Given the description of an element on the screen output the (x, y) to click on. 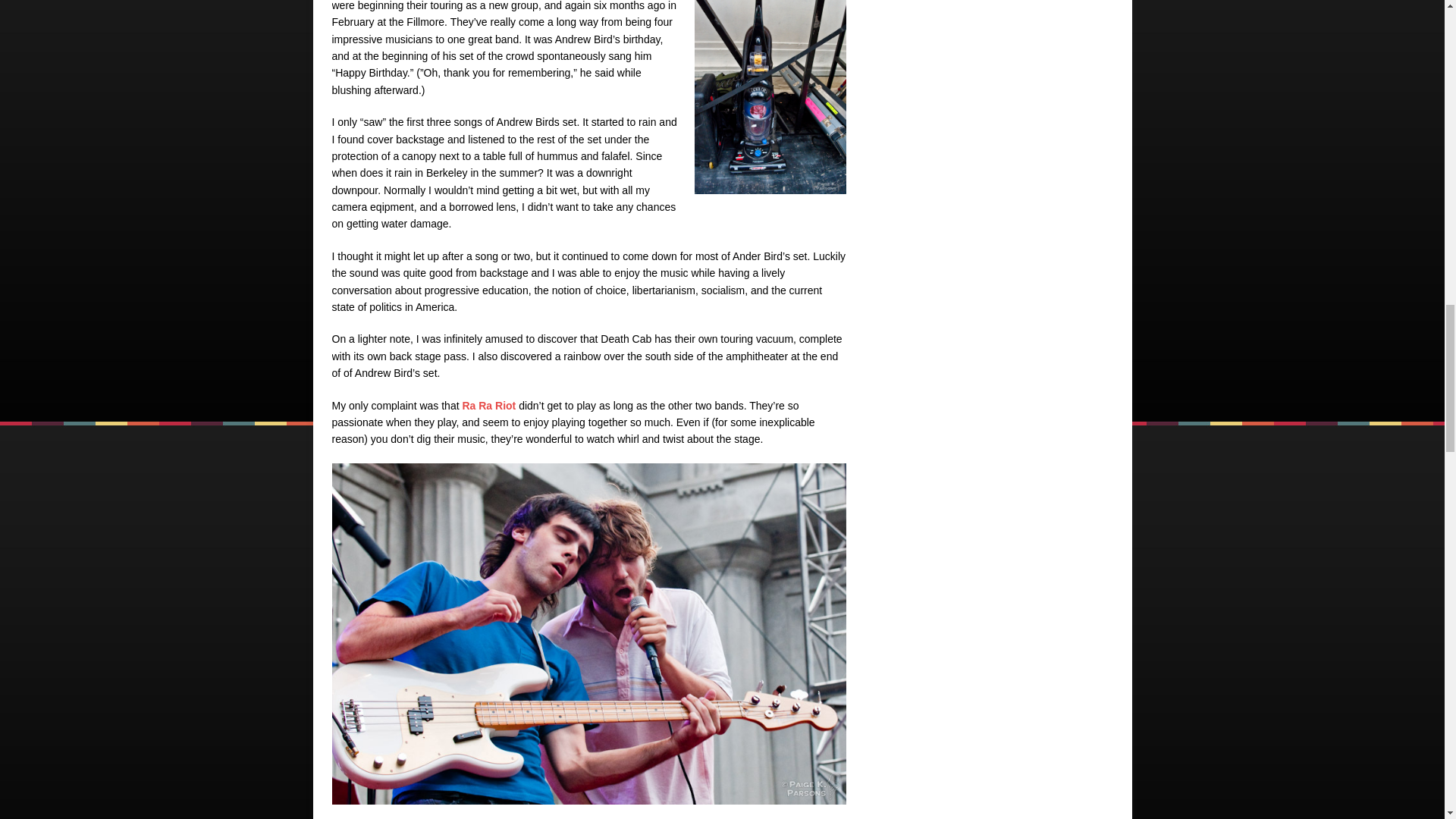
Ra Ra Riot (488, 405)
vaccuum-9970 (769, 97)
